Given the description of an element on the screen output the (x, y) to click on. 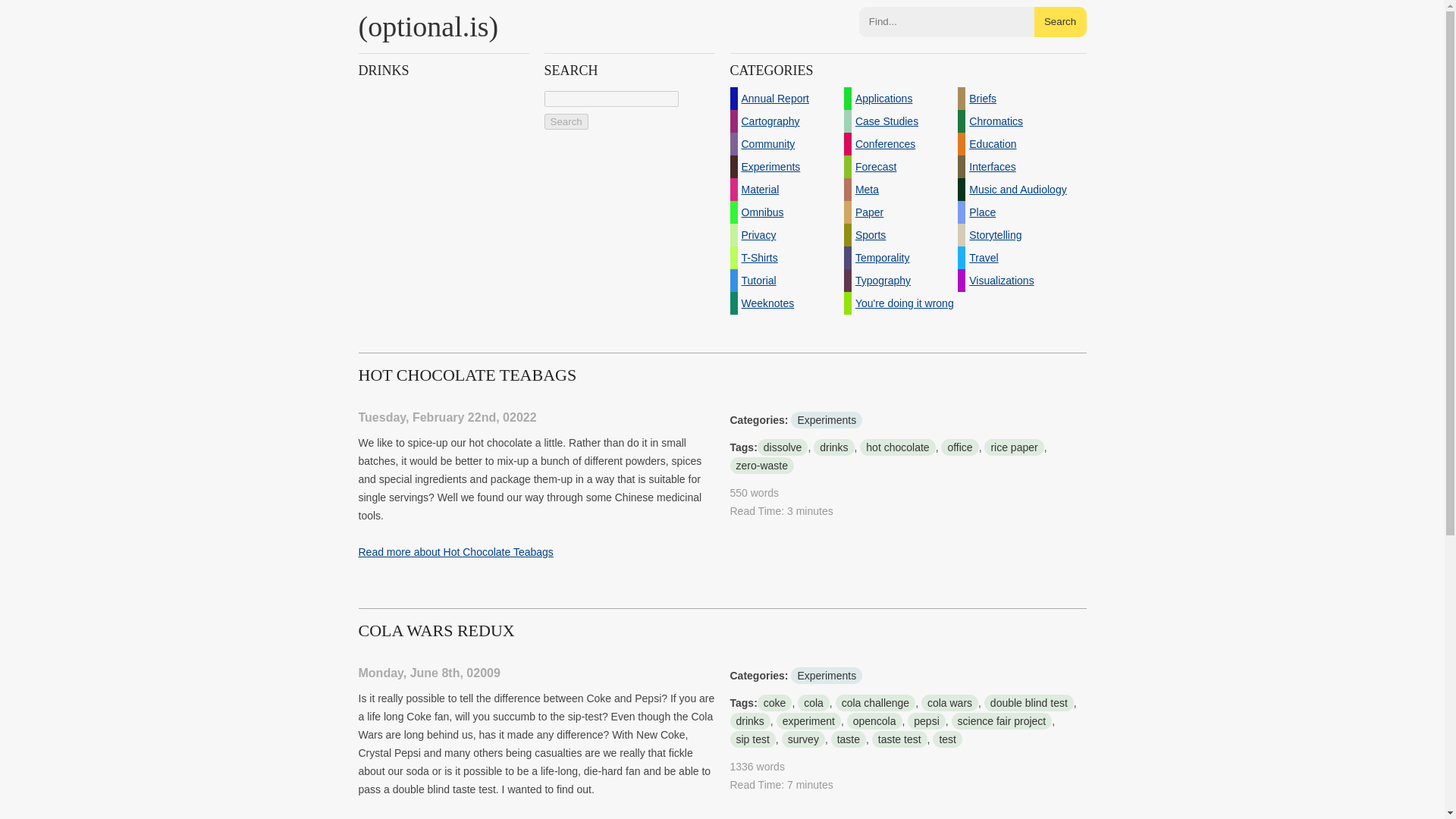
Material (786, 189)
Case Studies (901, 120)
Place (1014, 211)
Education (1014, 143)
drinks (833, 446)
Experiments (825, 419)
Temporality (901, 257)
Search (1059, 21)
View all articles in Experiments (825, 419)
Storytelling (1014, 234)
Tutorial (786, 280)
Experiments (786, 166)
Search (566, 121)
View all articles in Experiments (825, 675)
